Given the description of an element on the screen output the (x, y) to click on. 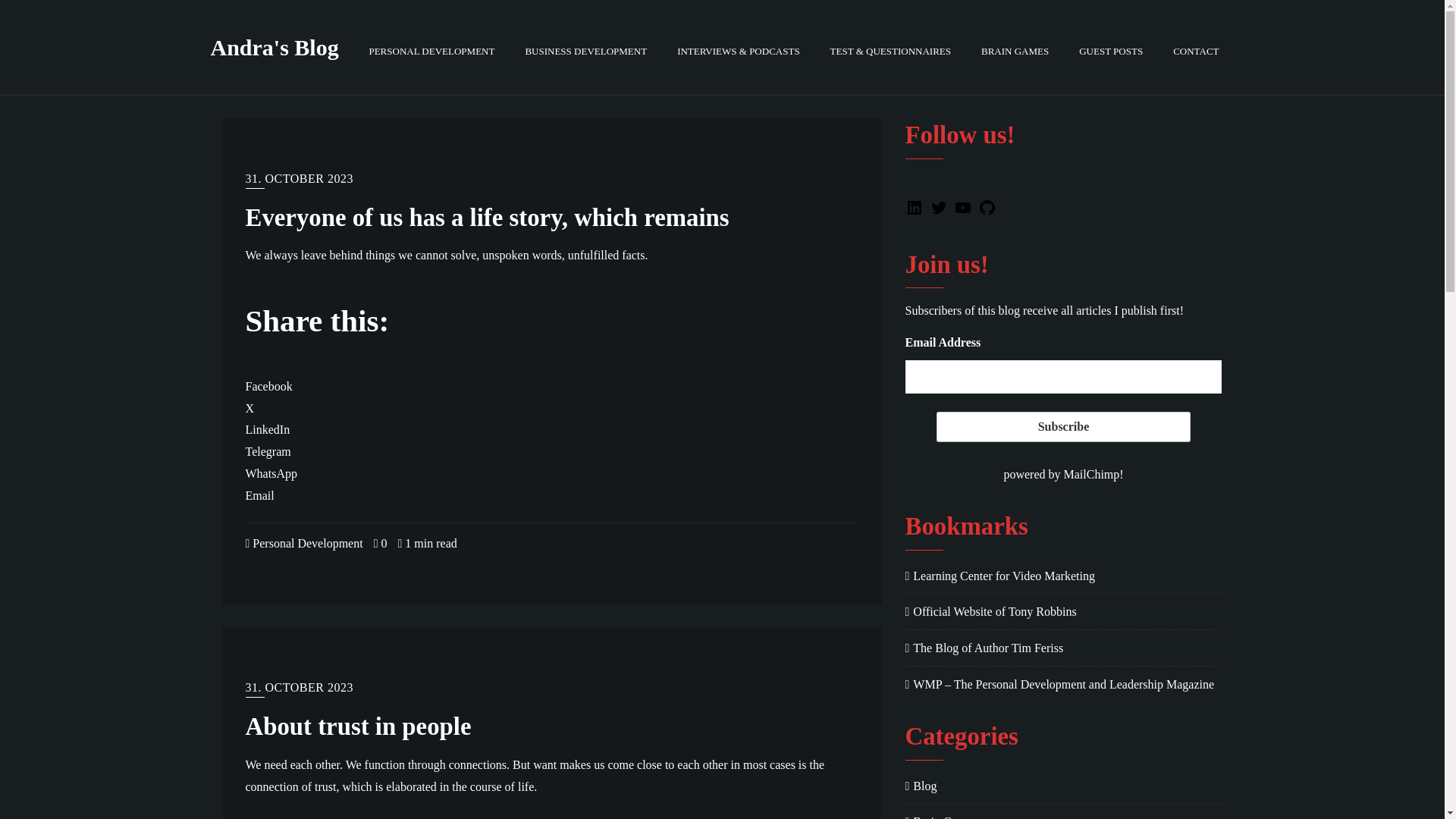
Click to share on Facebook (269, 386)
BRAIN GAMES (1015, 47)
Telegram (268, 451)
LinkedIn (267, 429)
Personal Development (304, 543)
BUSINESS DEVELOPMENT (585, 47)
Click to share on LinkedIn (267, 429)
Click to email a link to a friend (260, 495)
Subscribe (1062, 426)
WhatsApp (271, 472)
31. OCTOBER 2023 (299, 180)
Facebook (269, 386)
GUEST POSTS (1110, 47)
Email (260, 495)
Everyone of us has a life story, which remains (487, 216)
